Given the description of an element on the screen output the (x, y) to click on. 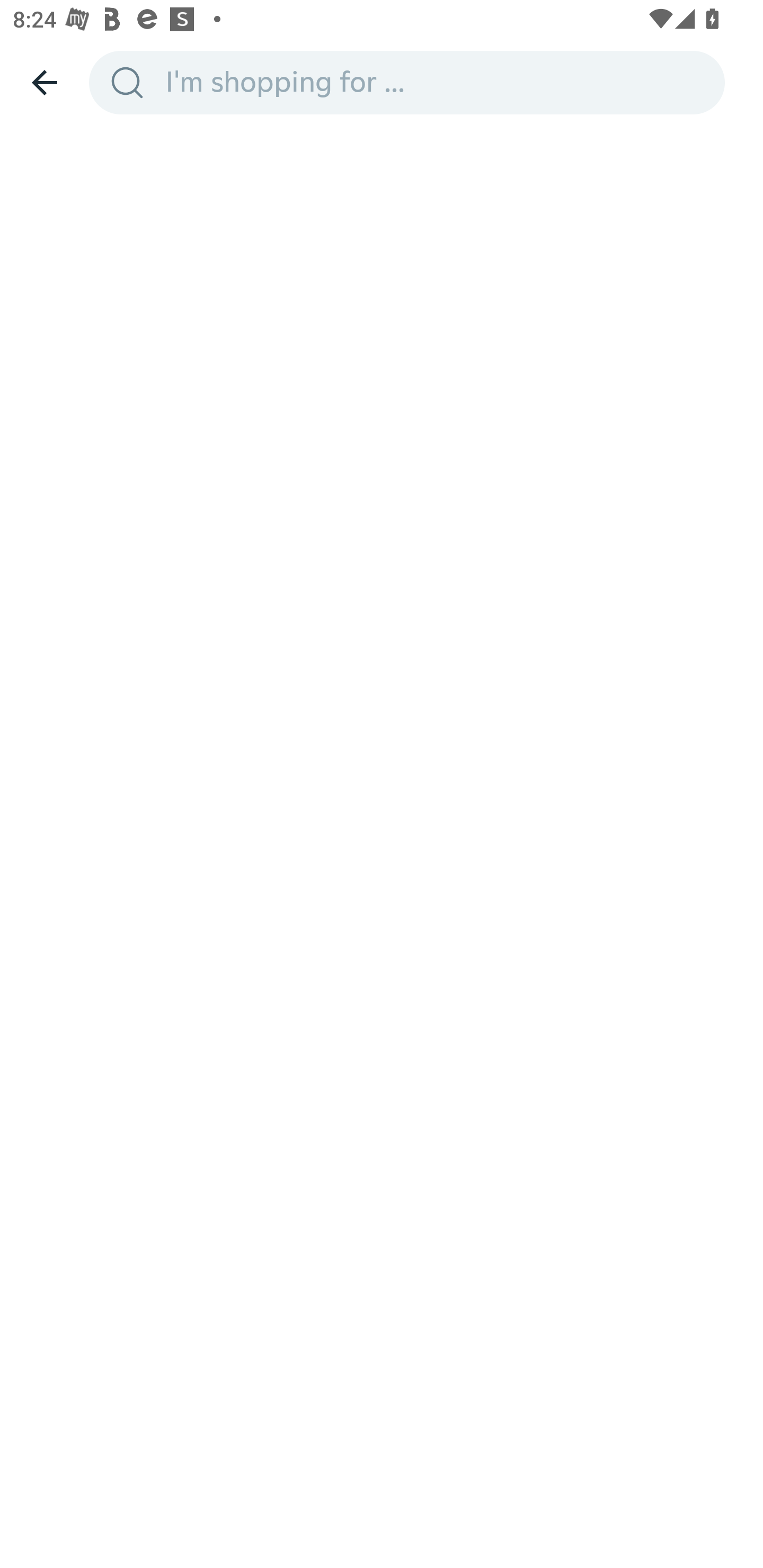
Navigate up (44, 82)
I'm shopping for ... (438, 81)
